Given the description of an element on the screen output the (x, y) to click on. 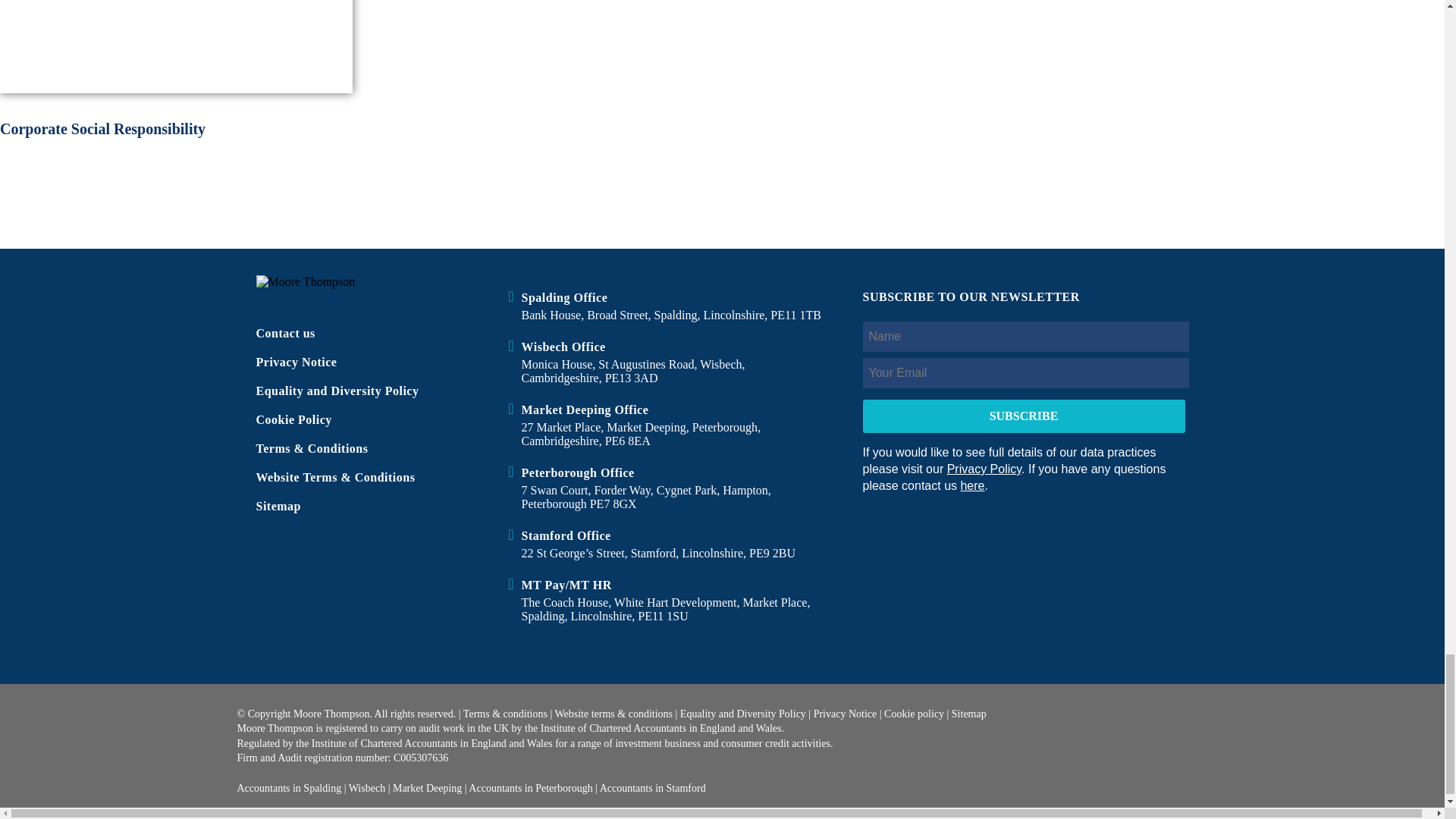
Corporate Social Responsibility (176, 42)
